Given the description of an element on the screen output the (x, y) to click on. 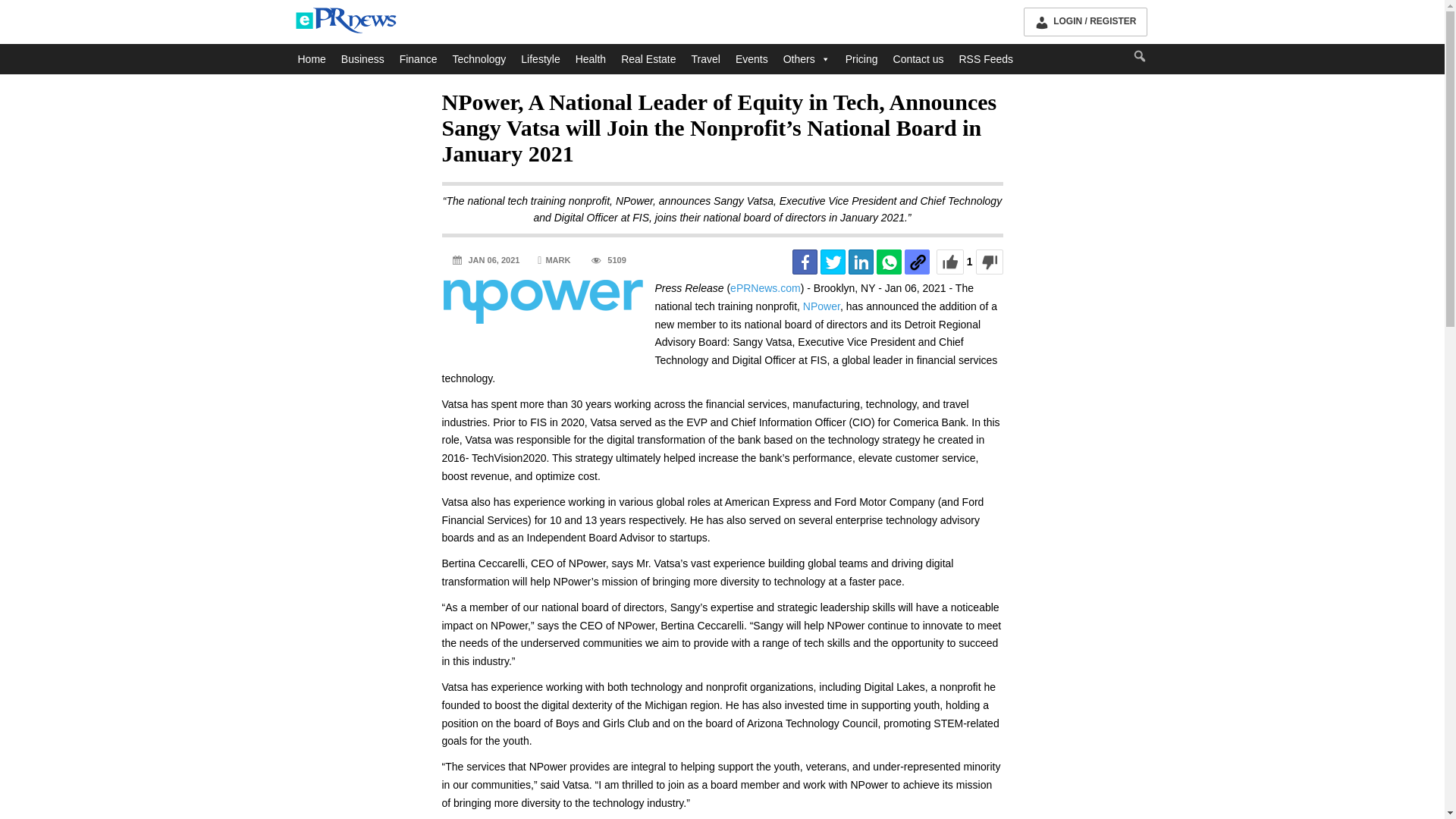
Home (311, 59)
Finance (418, 59)
ePRNews.com (765, 287)
MARK (553, 260)
RSS Feeds (985, 59)
Upvote (949, 261)
Pricing (861, 59)
Share on Twitter (833, 261)
Share on Whatsapp (888, 261)
Share on Linkedin (860, 261)
